Given the description of an element on the screen output the (x, y) to click on. 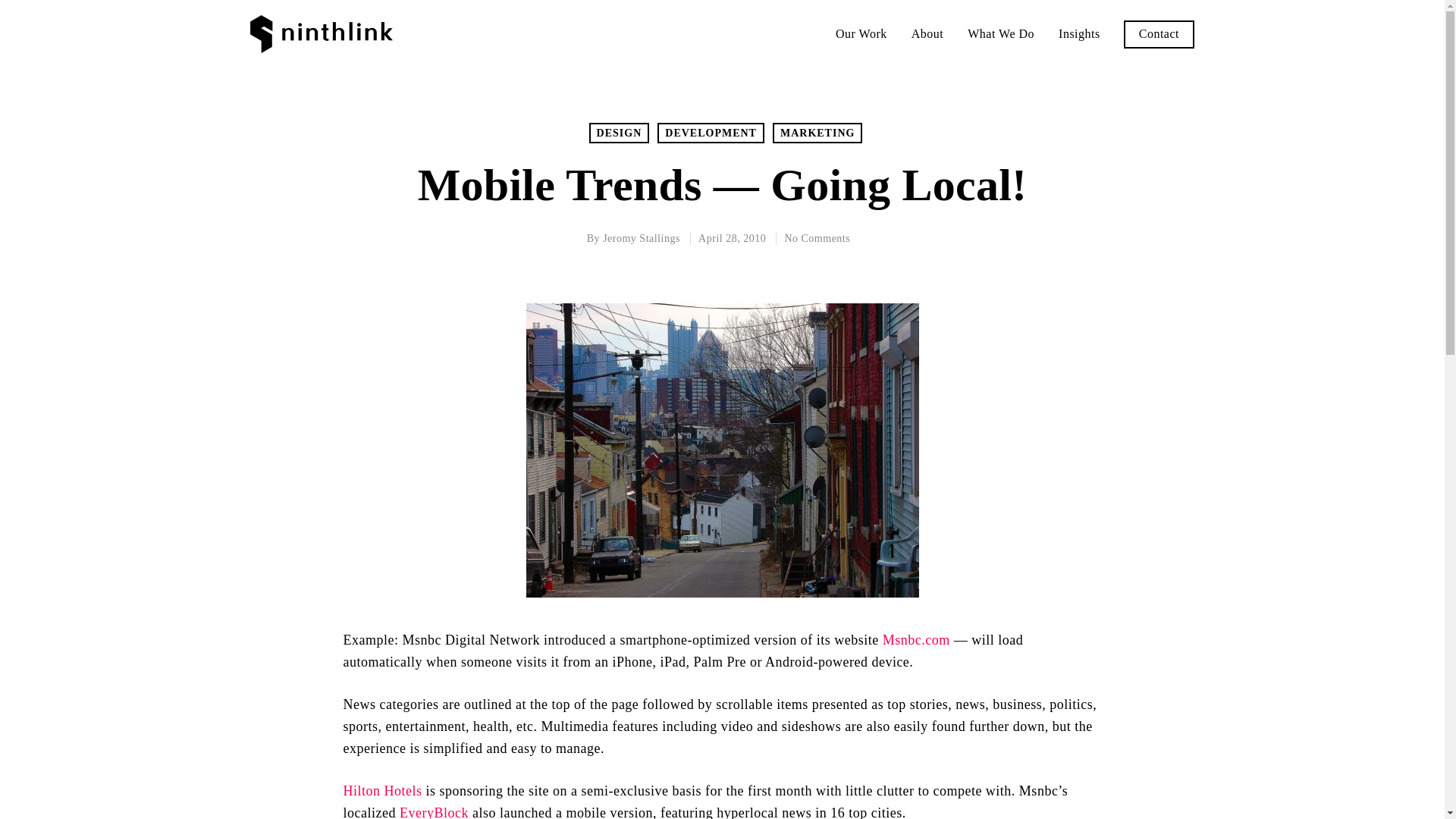
No Comments (817, 238)
DESIGN (619, 132)
Contact (1158, 33)
About (927, 33)
street (721, 450)
What We Do (1000, 33)
Jeromy Stallings (640, 238)
Our Work (861, 33)
Insights (1079, 33)
Hilton Hotels (382, 790)
